Given the description of an element on the screen output the (x, y) to click on. 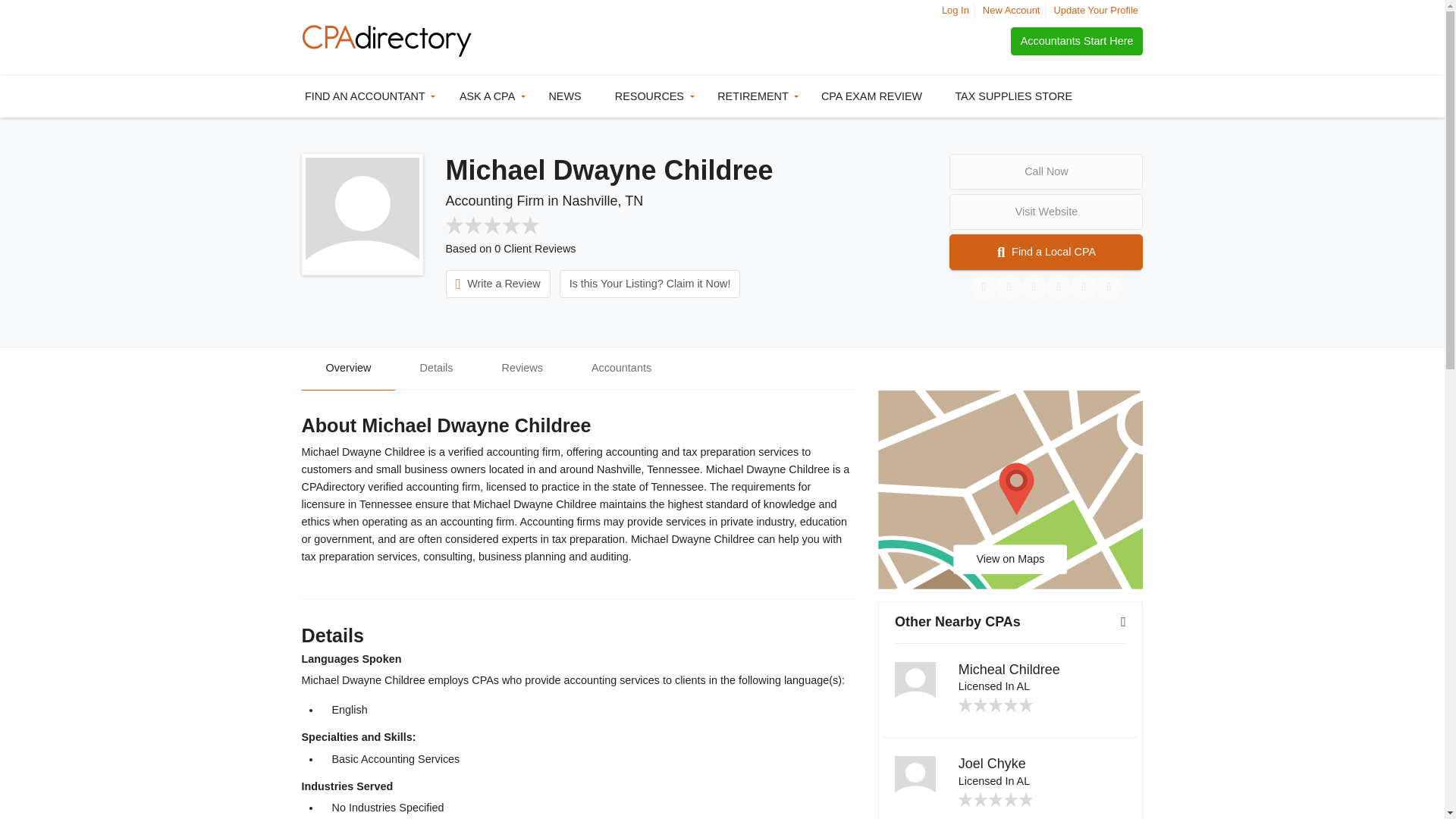
ASK A CPA (490, 96)
NEWS (566, 96)
RESOURCES (651, 96)
RETIREMENT (755, 96)
Log In (955, 9)
Accountants Start Here (1076, 41)
FIND AN ACCOUNTANT (366, 96)
Update Your Profile (1095, 9)
New Account (1011, 9)
